Given the description of an element on the screen output the (x, y) to click on. 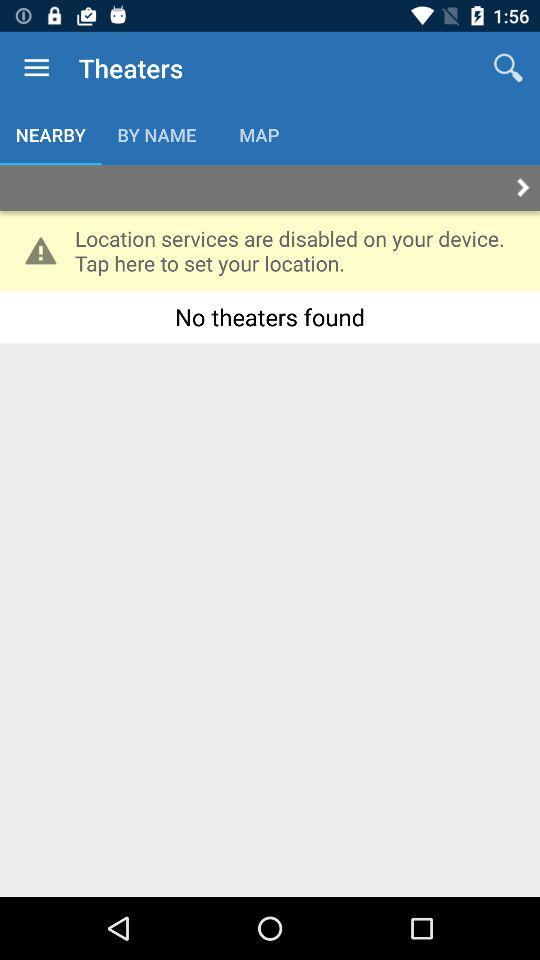
autoplay (270, 188)
